Given the description of an element on the screen output the (x, y) to click on. 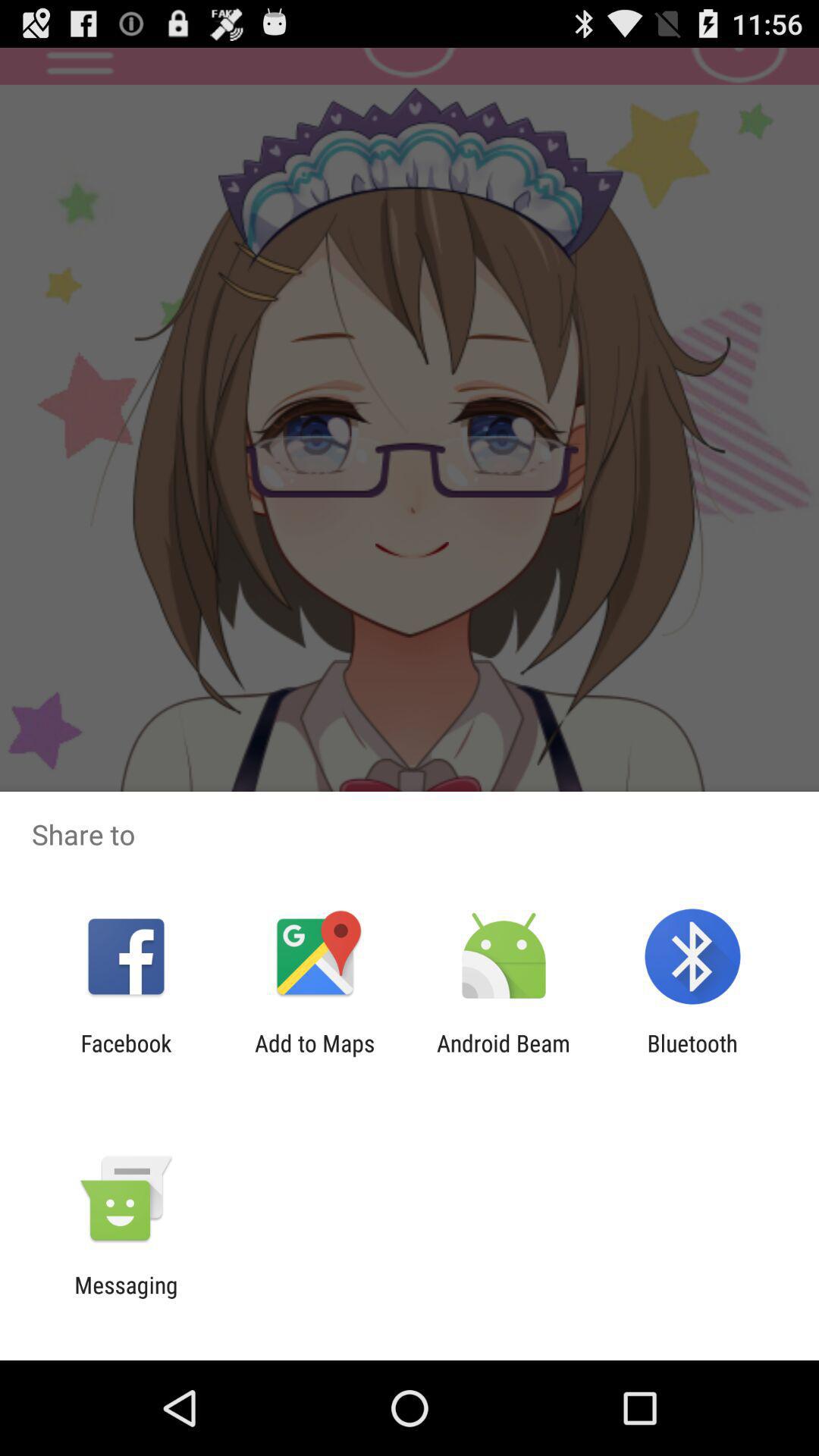
press item to the right of add to maps app (503, 1056)
